Given the description of an element on the screen output the (x, y) to click on. 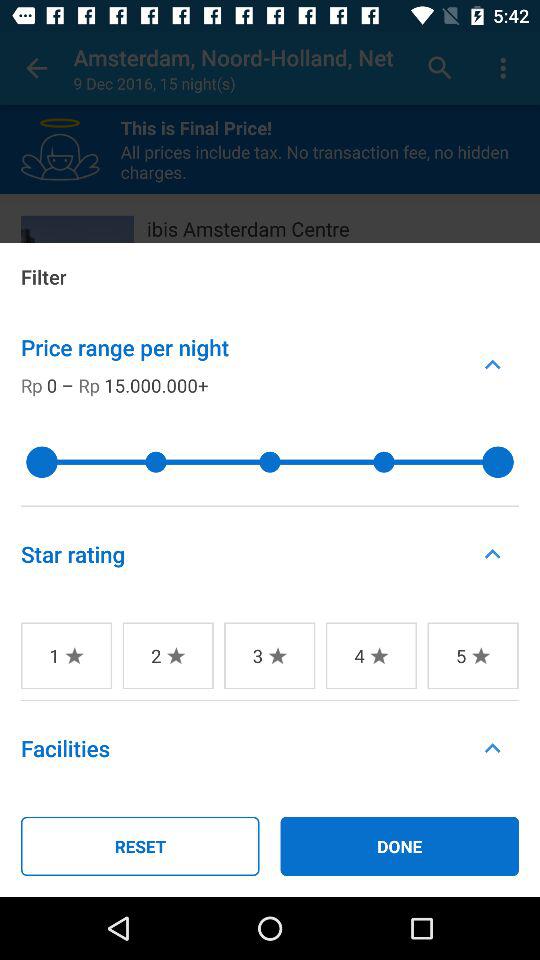
select icon to the left of the done icon (140, 846)
